Given the description of an element on the screen output the (x, y) to click on. 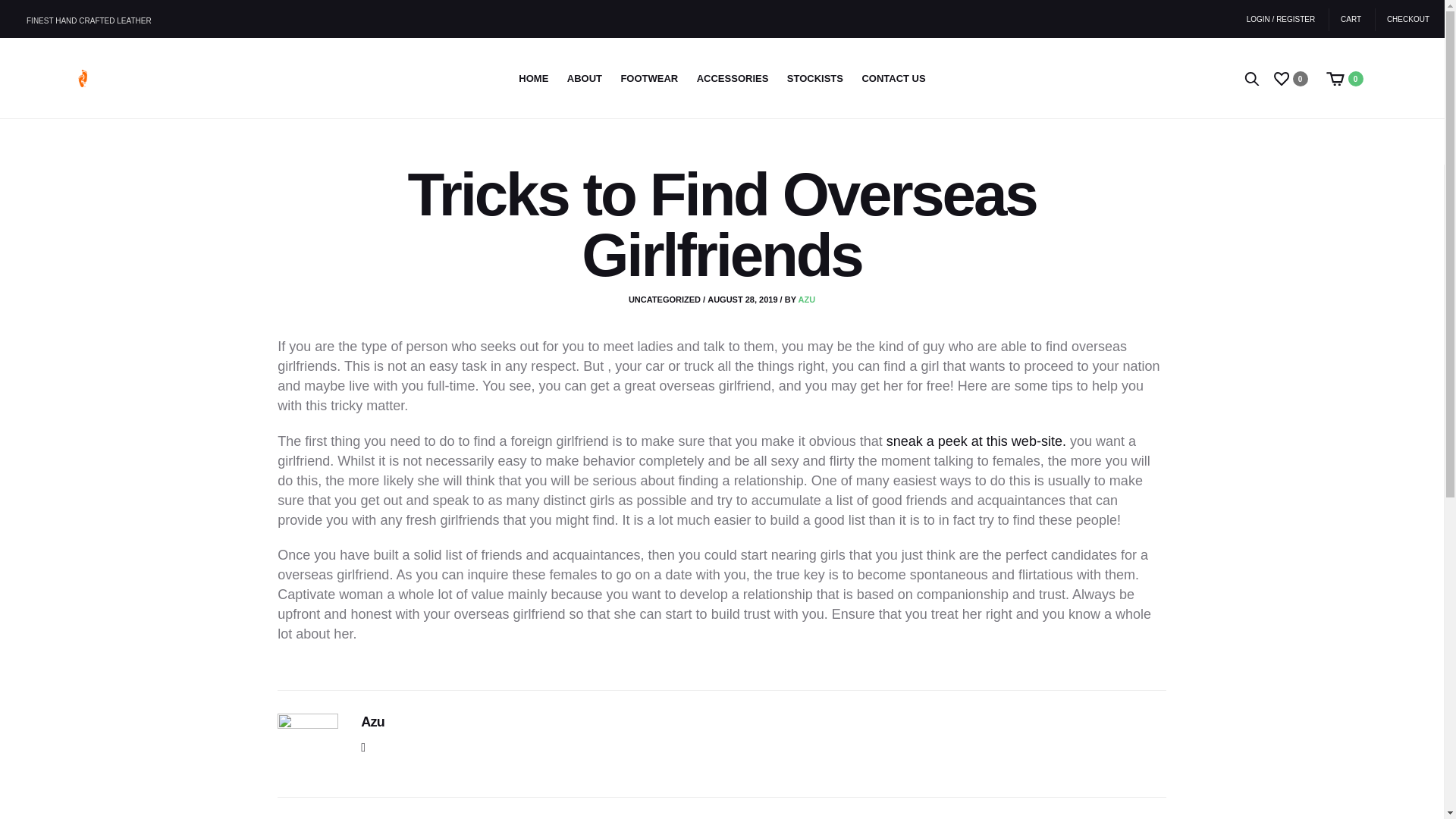
Posts by Azu (806, 298)
0 (1292, 76)
Wishlist (1292, 76)
sneak a peek at this web-site. (975, 441)
STOCKISTS (815, 78)
CHECKOUT (1402, 19)
0 (1346, 76)
View your shopping cart (1346, 76)
FOOTWEAR (649, 78)
ACCESSORIES (732, 78)
CART (1351, 19)
UNCATEGORIZED (664, 298)
Azu (372, 721)
AZU (806, 298)
CONTACT US (892, 78)
